Given the description of an element on the screen output the (x, y) to click on. 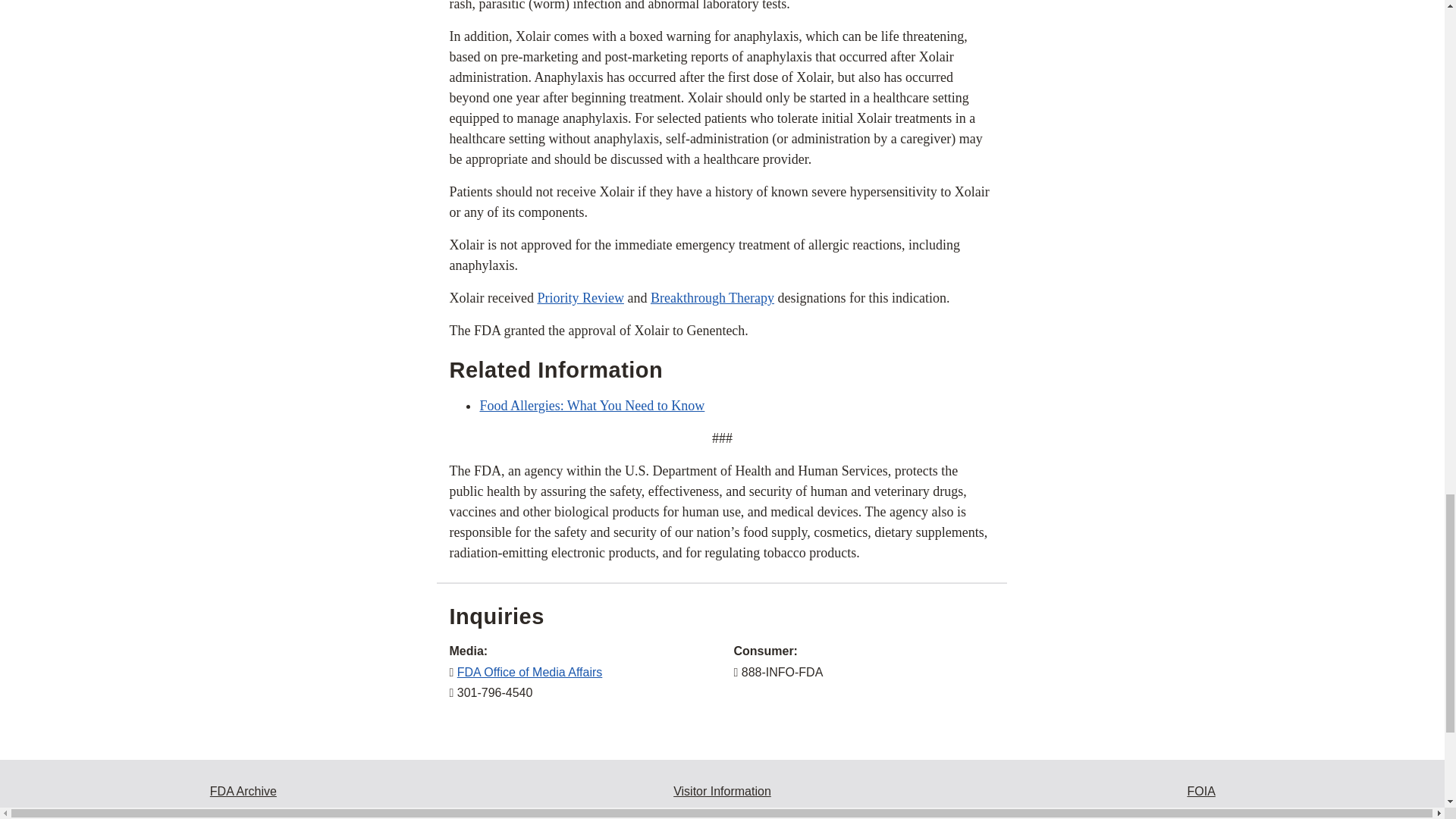
Food Allergies: What You Need to Know (591, 405)
Priority Review (580, 297)
Health and Human Services (1200, 813)
Freedom of Information Act (1200, 791)
Breakthrough Therapy (712, 297)
